Given the description of an element on the screen output the (x, y) to click on. 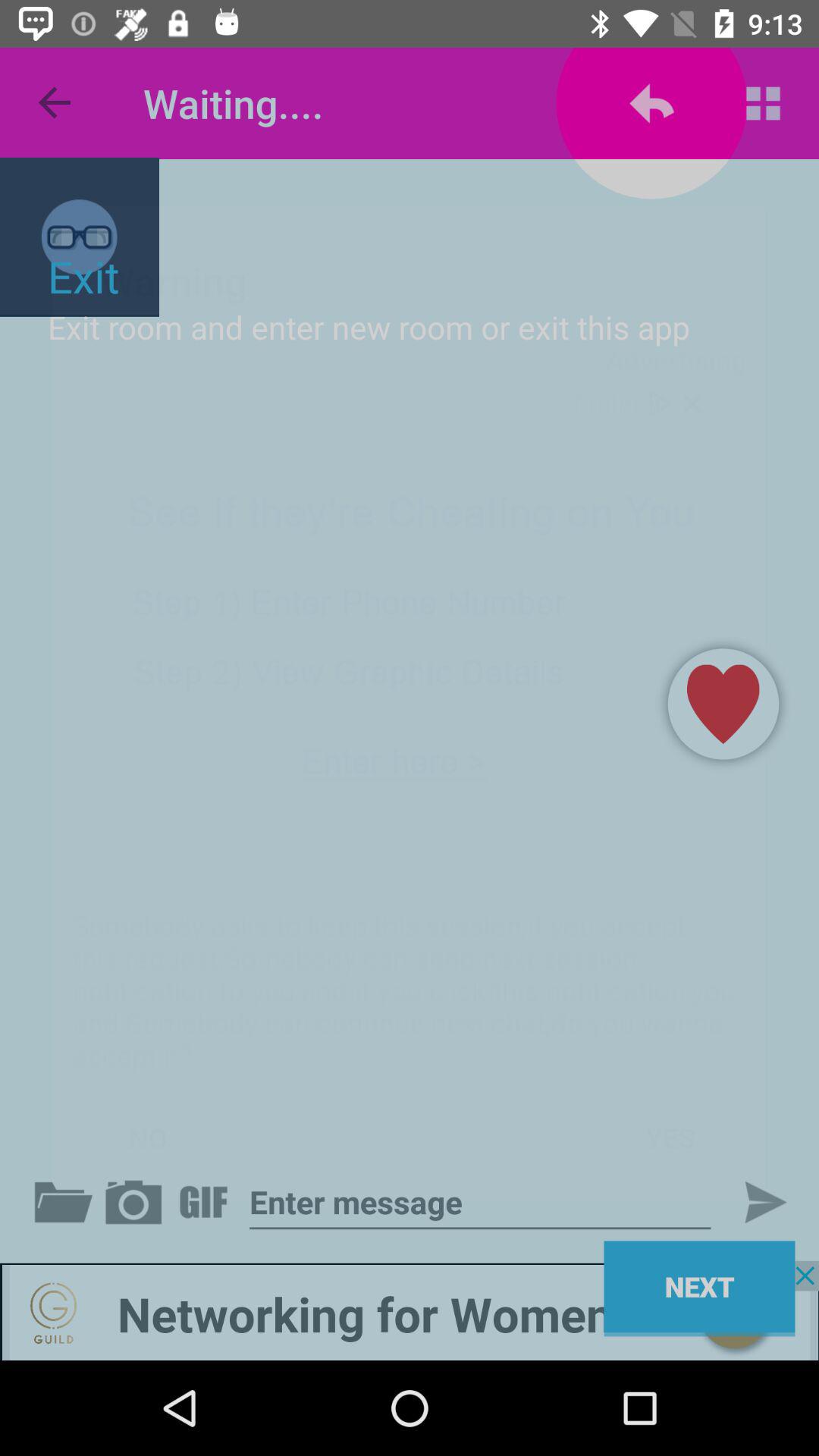
enter the message box (479, 1202)
